Given the description of an element on the screen output the (x, y) to click on. 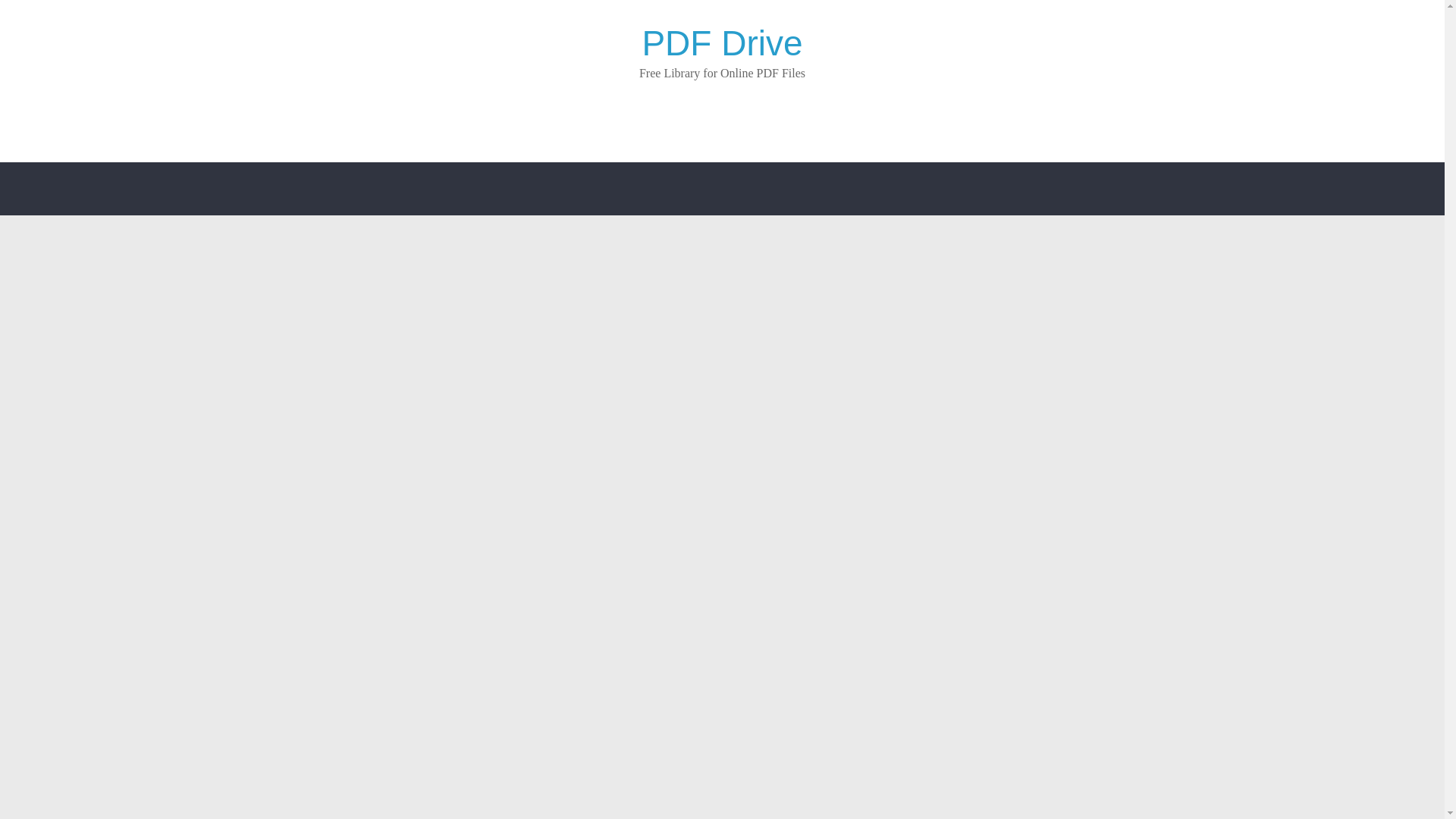
PDF Drive (722, 43)
PDF Drive (722, 43)
